Given the description of an element on the screen output the (x, y) to click on. 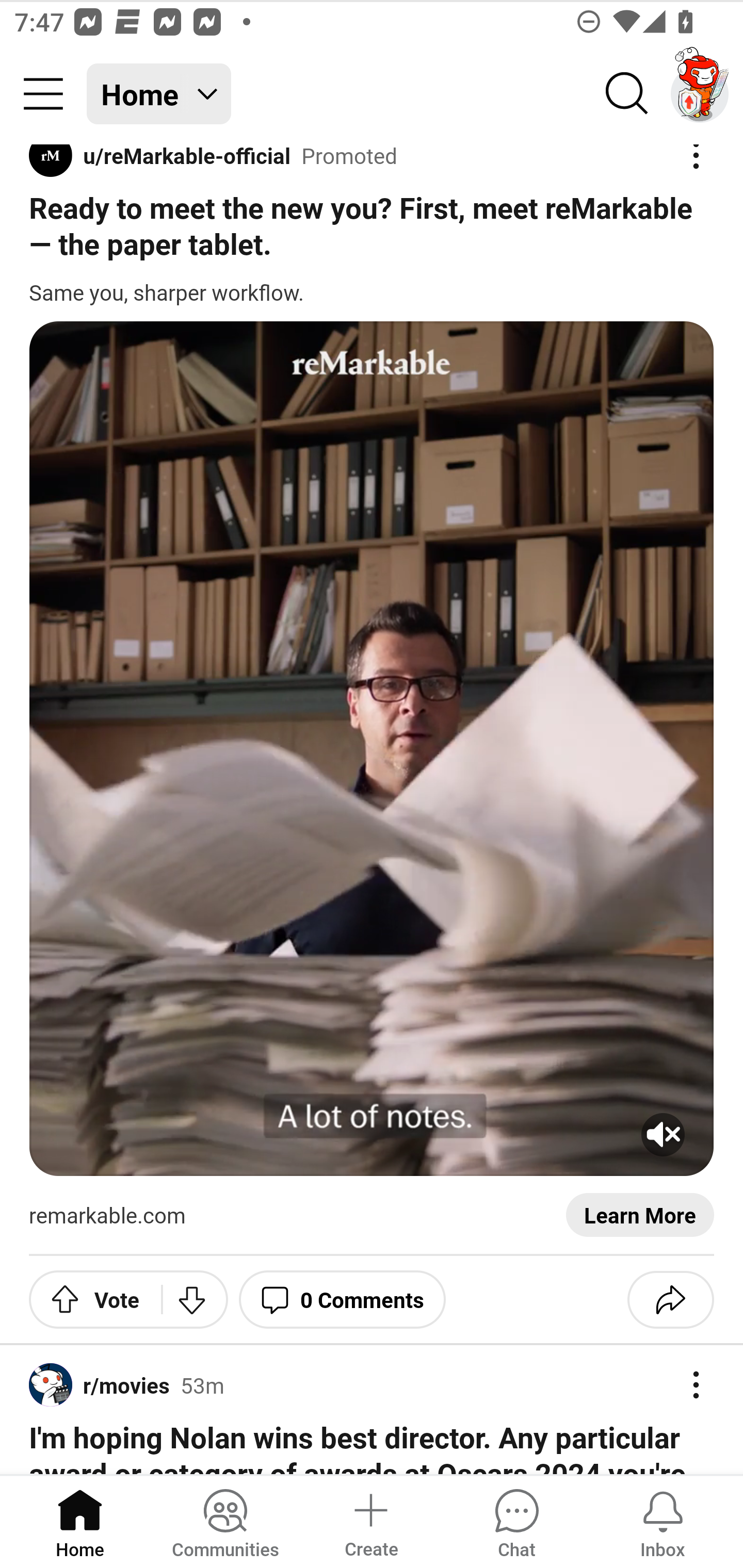
Community menu (43, 93)
Home Home feed (158, 93)
Search (626, 93)
TestAppium002 account (699, 93)
Unmute (371, 748)
Unmute (663, 1135)
Home (80, 1520)
Communities (225, 1520)
Create a post Create (370, 1520)
Chat (516, 1520)
Inbox (662, 1520)
